Given the description of an element on the screen output the (x, y) to click on. 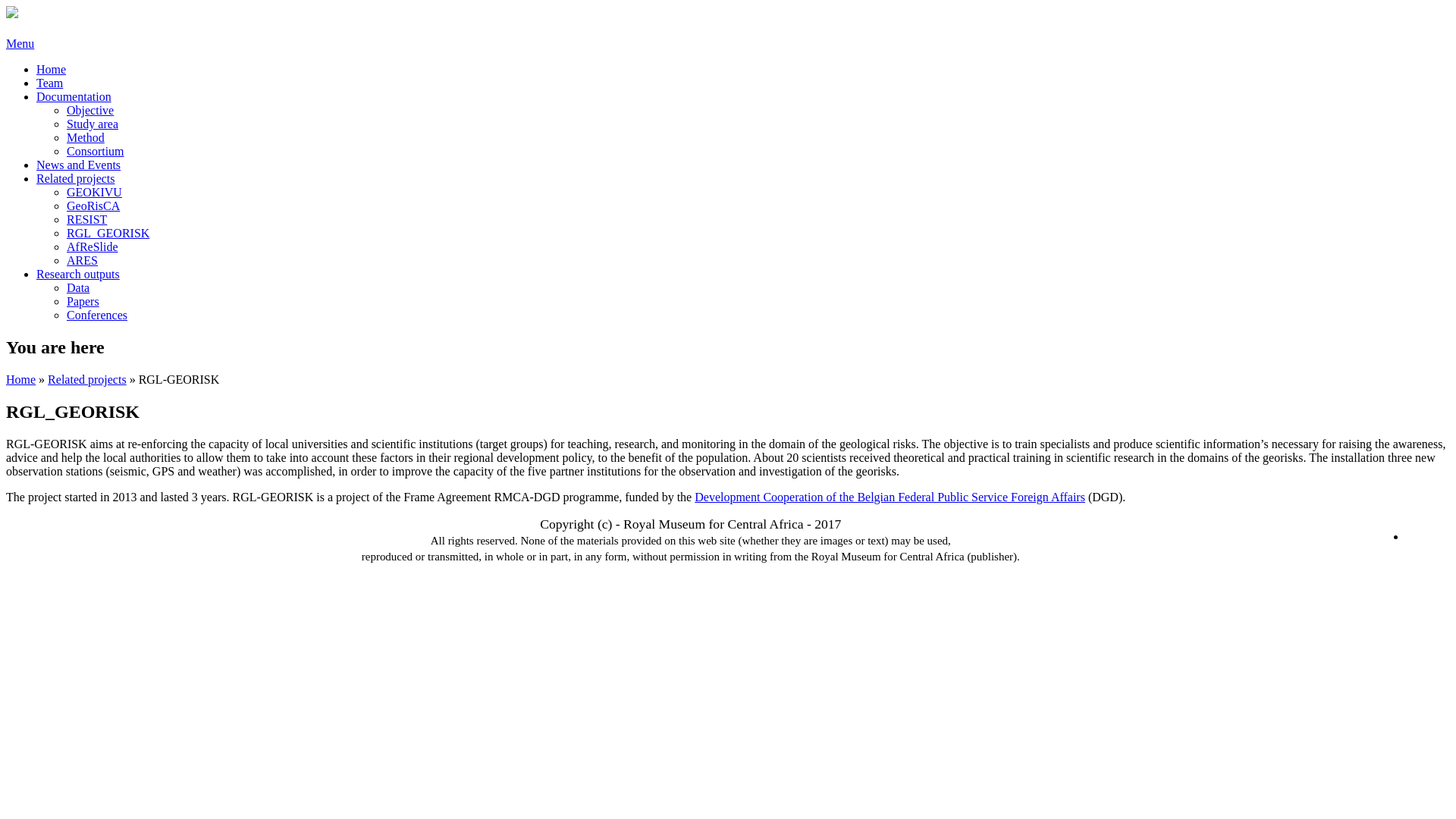
Related projects Element type: text (75, 178)
Conferences Element type: text (96, 314)
Related projects Element type: text (86, 379)
Documentation Element type: text (73, 96)
Study area Element type: text (92, 123)
ARES Element type: text (81, 260)
Home Element type: text (20, 379)
GeoRisCA Element type: text (92, 205)
AfReSlide Element type: text (92, 246)
Papers Element type: text (82, 300)
Method Element type: text (85, 137)
Consortium Element type: text (95, 150)
Menu Element type: text (20, 43)
Log in Element type: text (1422, 535)
Research outputs Element type: text (77, 273)
RESIST Element type: text (86, 219)
RGL_GEORISK Element type: text (107, 232)
Objective Element type: text (89, 109)
News and Events Element type: text (78, 164)
Home Element type: text (50, 68)
Team Element type: text (49, 82)
Home Element type: hover (12, 13)
Data Element type: text (77, 287)
GEOKIVU Element type: text (94, 191)
